Given the description of an element on the screen output the (x, y) to click on. 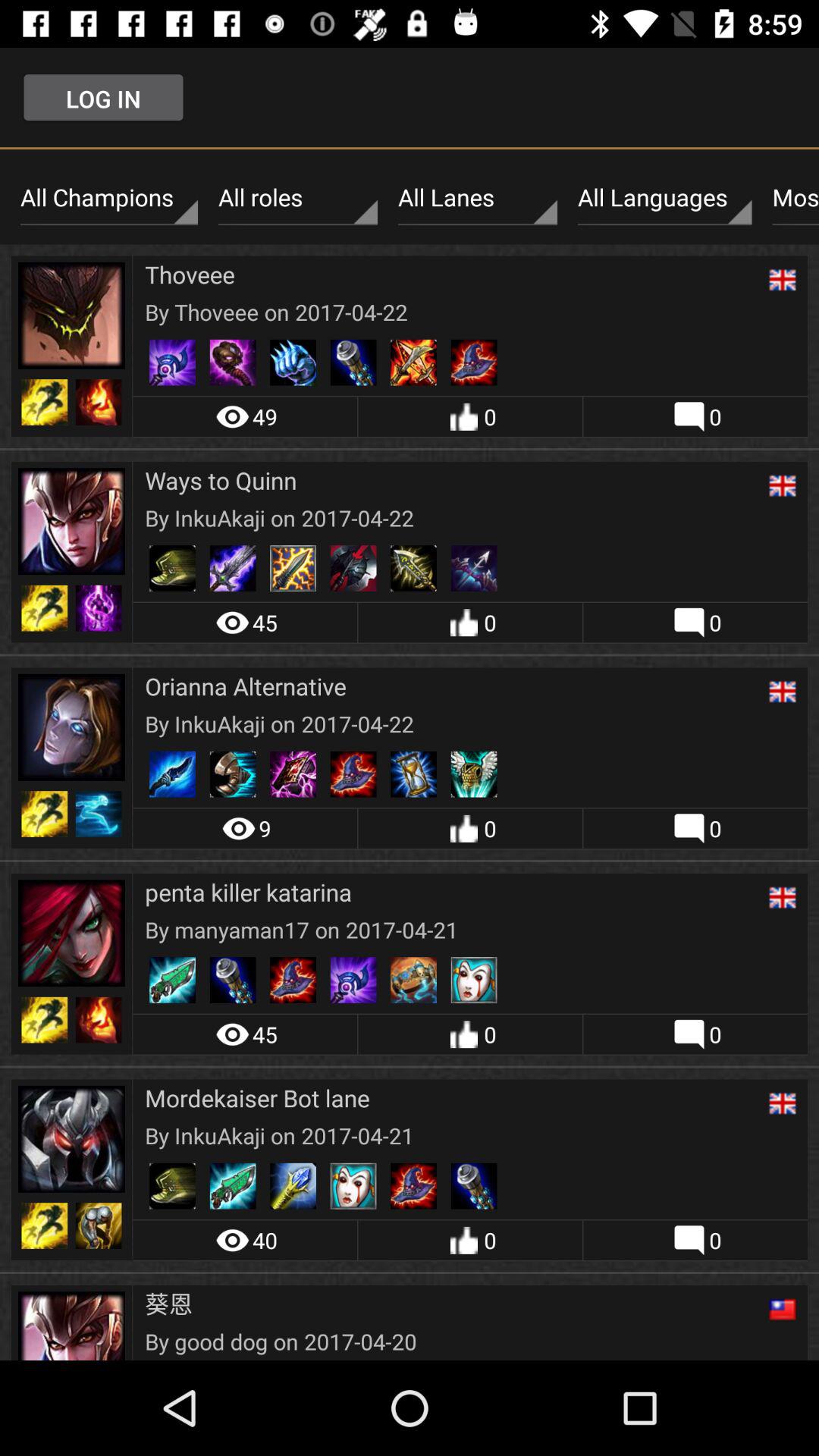
select icon to the right of all lanes icon (664, 198)
